Given the description of an element on the screen output the (x, y) to click on. 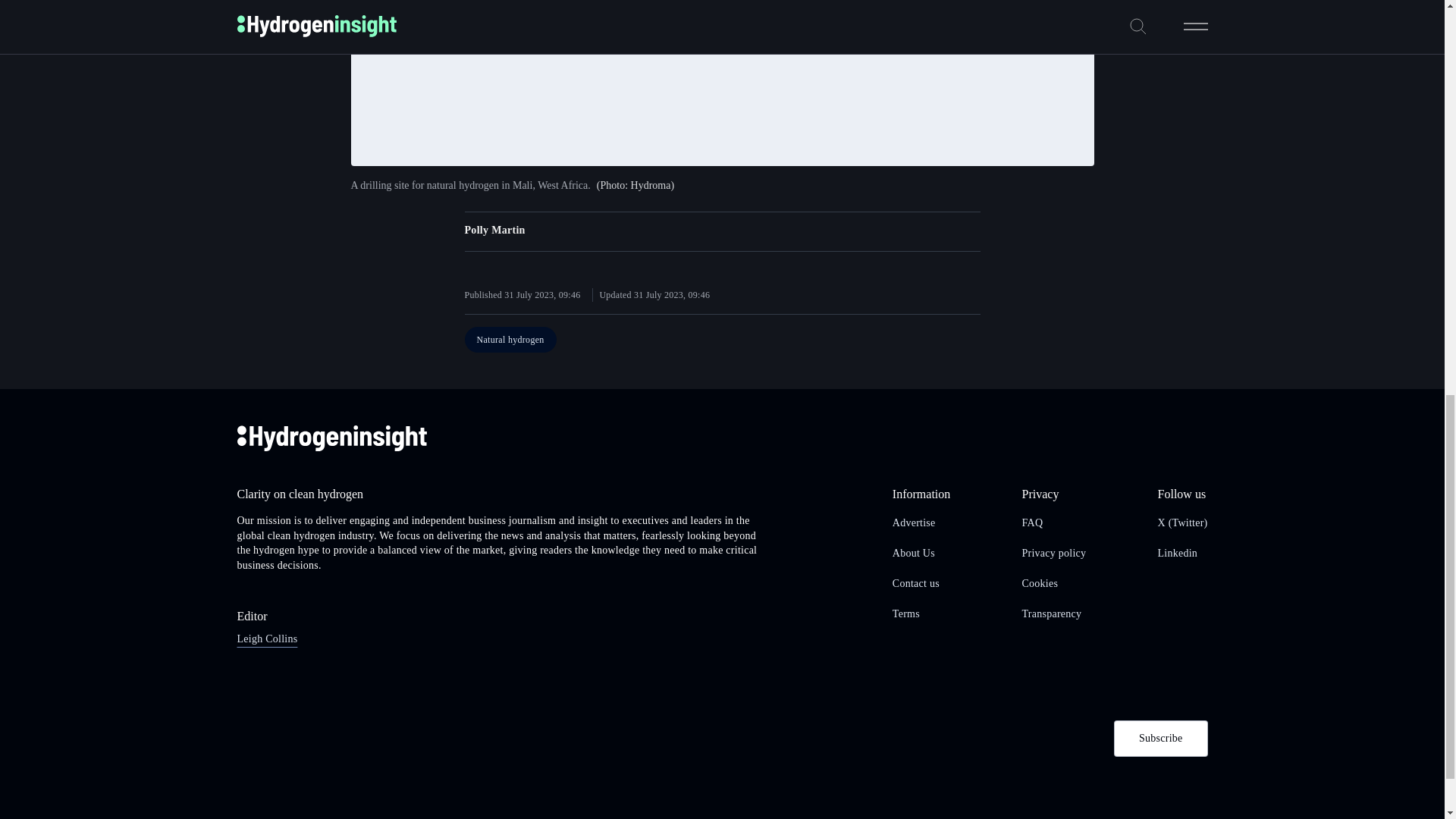
Cookies (1040, 583)
Terms (906, 613)
Linkedin (1177, 552)
Linkedin (1177, 552)
About Us (913, 552)
Privacy policy (1054, 552)
Polly Martin (494, 229)
Subscribe (1160, 738)
FAQ (1032, 522)
Contact us (915, 583)
